Given the description of an element on the screen output the (x, y) to click on. 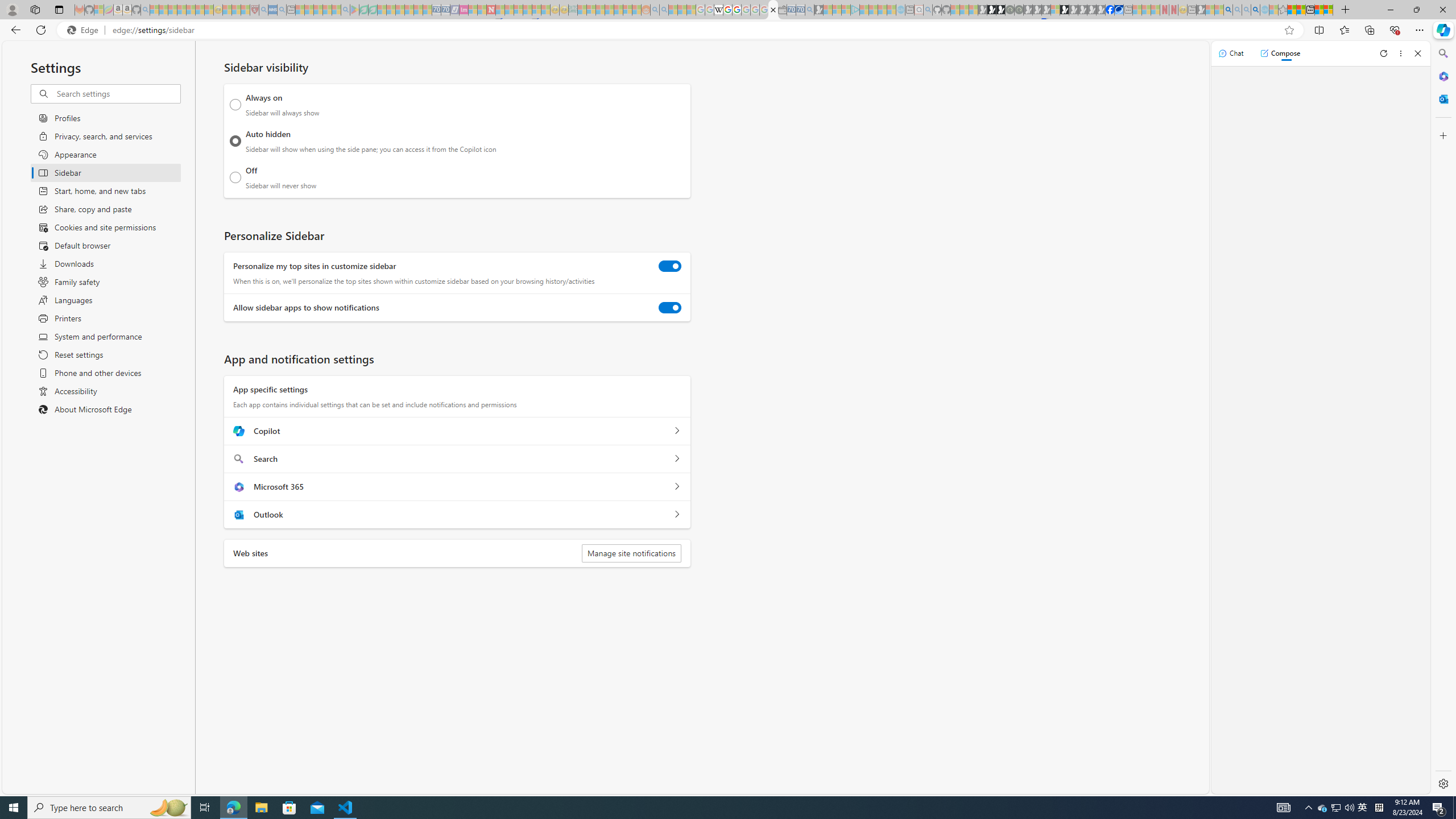
utah sues federal government - Search - Sleeping (281, 9)
Local - MSN - Sleeping (244, 9)
Always on Sidebar will always show (235, 104)
Jobs - lastminute.com Investor Portal - Sleeping (463, 9)
Future Focus Report 2024 - Sleeping (1018, 9)
Kinda Frugal - MSN - Sleeping (617, 9)
